Given the description of an element on the screen output the (x, y) to click on. 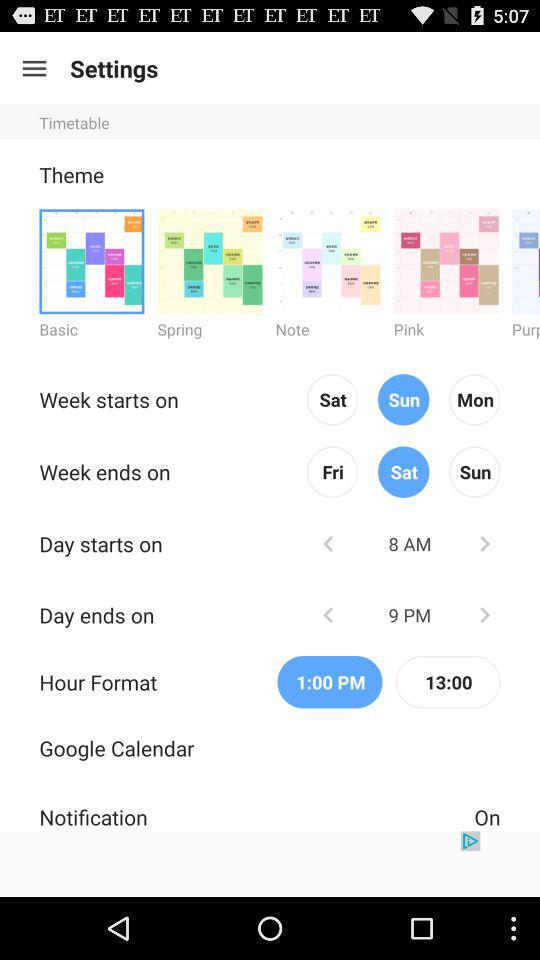
earlier (328, 543)
